Given the description of an element on the screen output the (x, y) to click on. 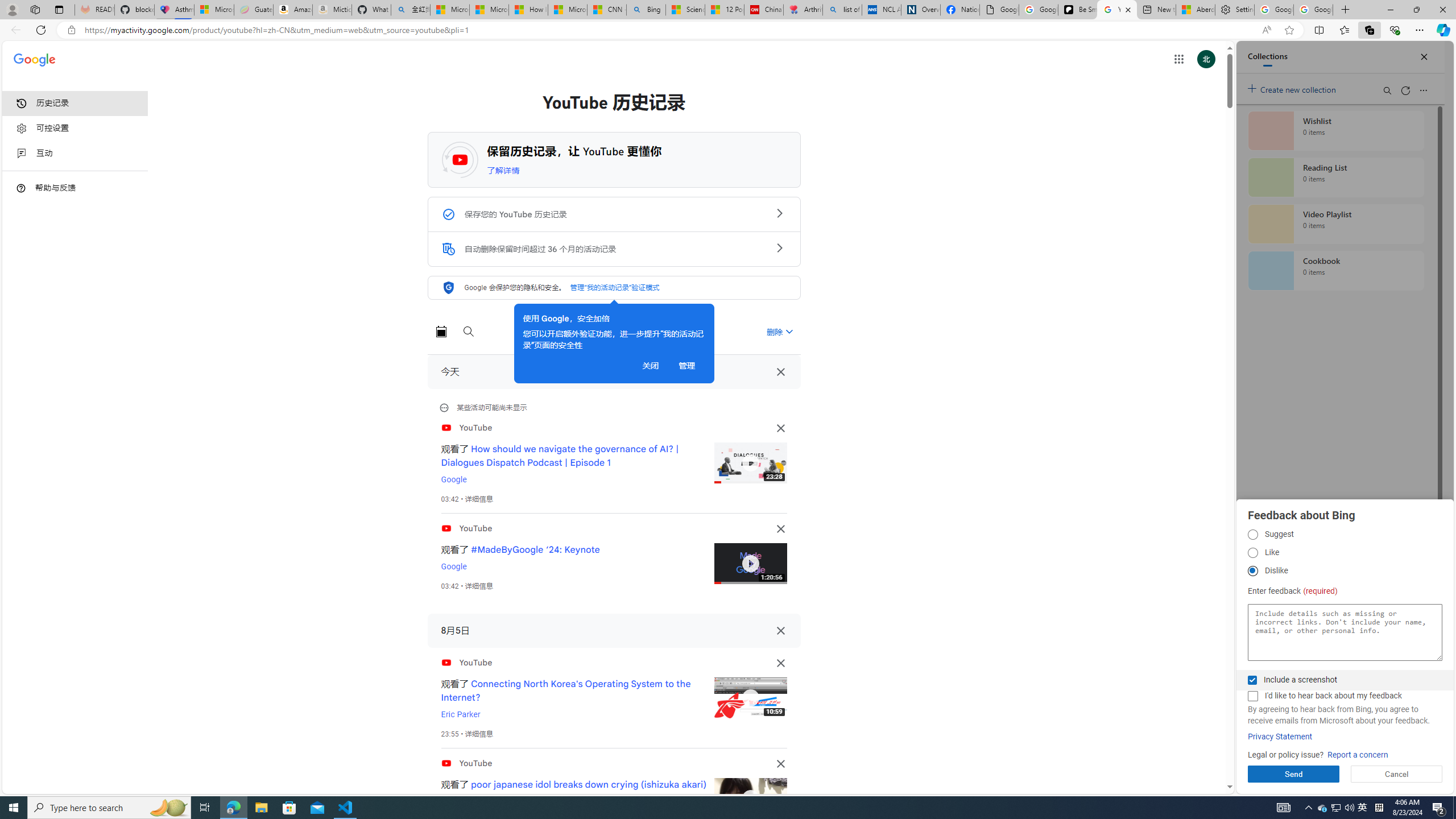
Connecting North Korea's Operating System to the Internet? (566, 690)
Google Analytics Opt-out Browser Add-on Download Page (999, 9)
Be Smart | creating Science videos | Patreon (1077, 9)
Bing (646, 9)
AutomationID: fbpgdgtp2 (1252, 552)
